Given the description of an element on the screen output the (x, y) to click on. 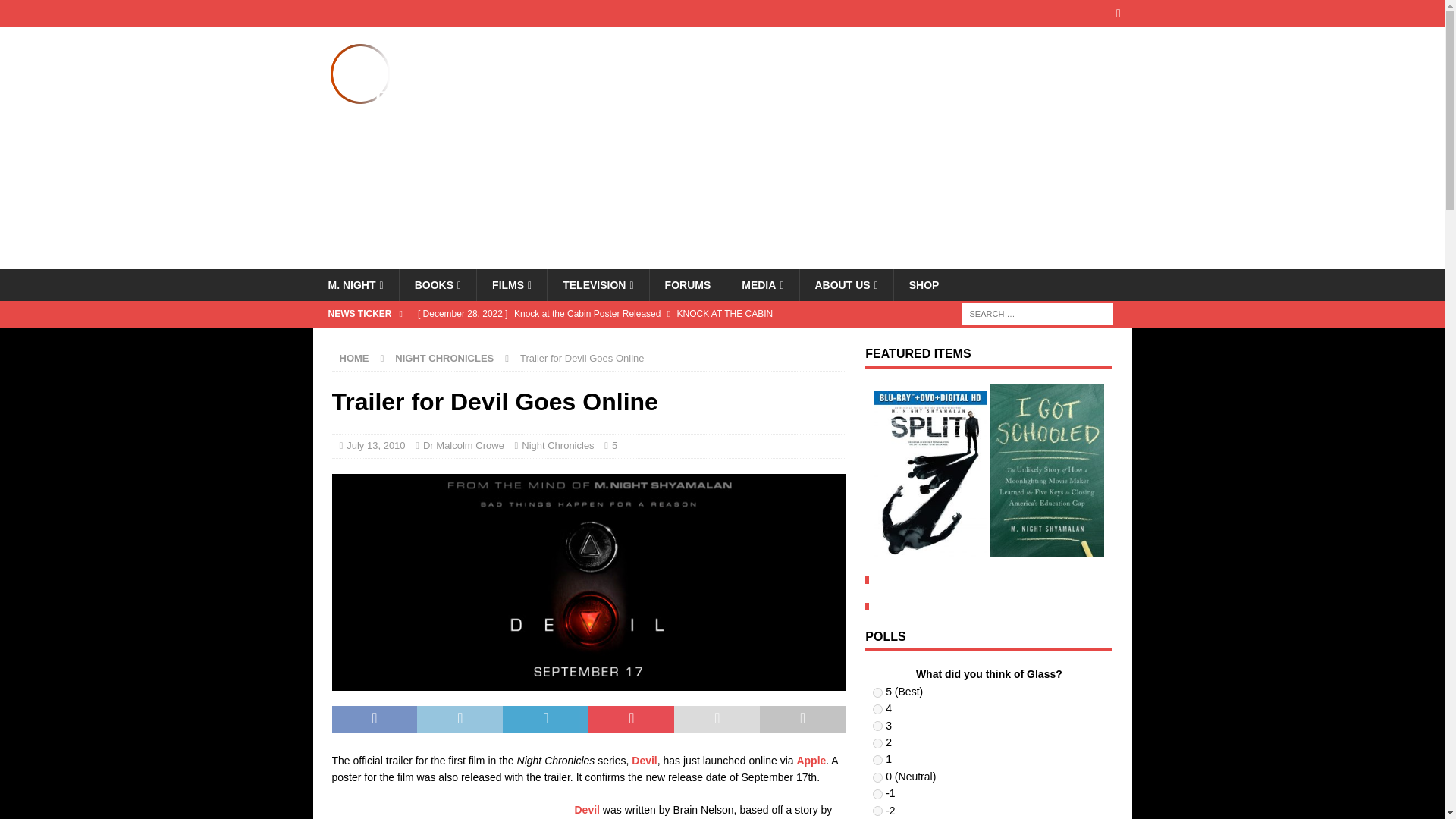
104 (877, 726)
109 (877, 810)
ABOUT US (846, 285)
SHOP (924, 285)
BOOKS (437, 285)
FILMS (511, 285)
TELEVISION (597, 285)
105 (877, 743)
106 (877, 759)
M. NIGHT (355, 285)
FORUMS (687, 285)
Knock at the Cabin Poster Released (627, 313)
devil (588, 582)
107 (877, 777)
MEDIA (761, 285)
